Given the description of an element on the screen output the (x, y) to click on. 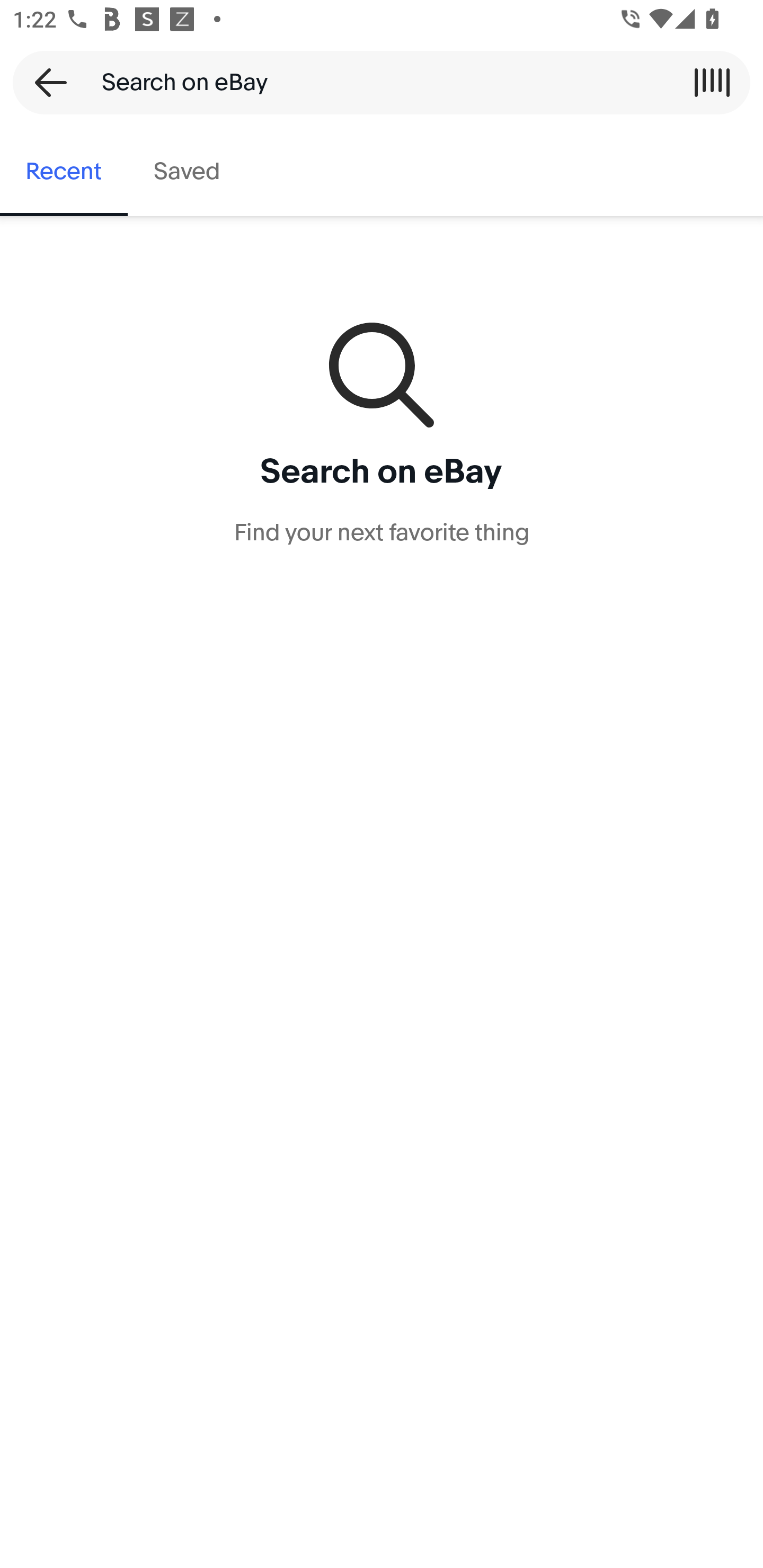
Back (44, 82)
Scan a barcode (711, 82)
Search on eBay (375, 82)
Saved, tab 2 of 2 Saved (186, 171)
